Given the description of an element on the screen output the (x, y) to click on. 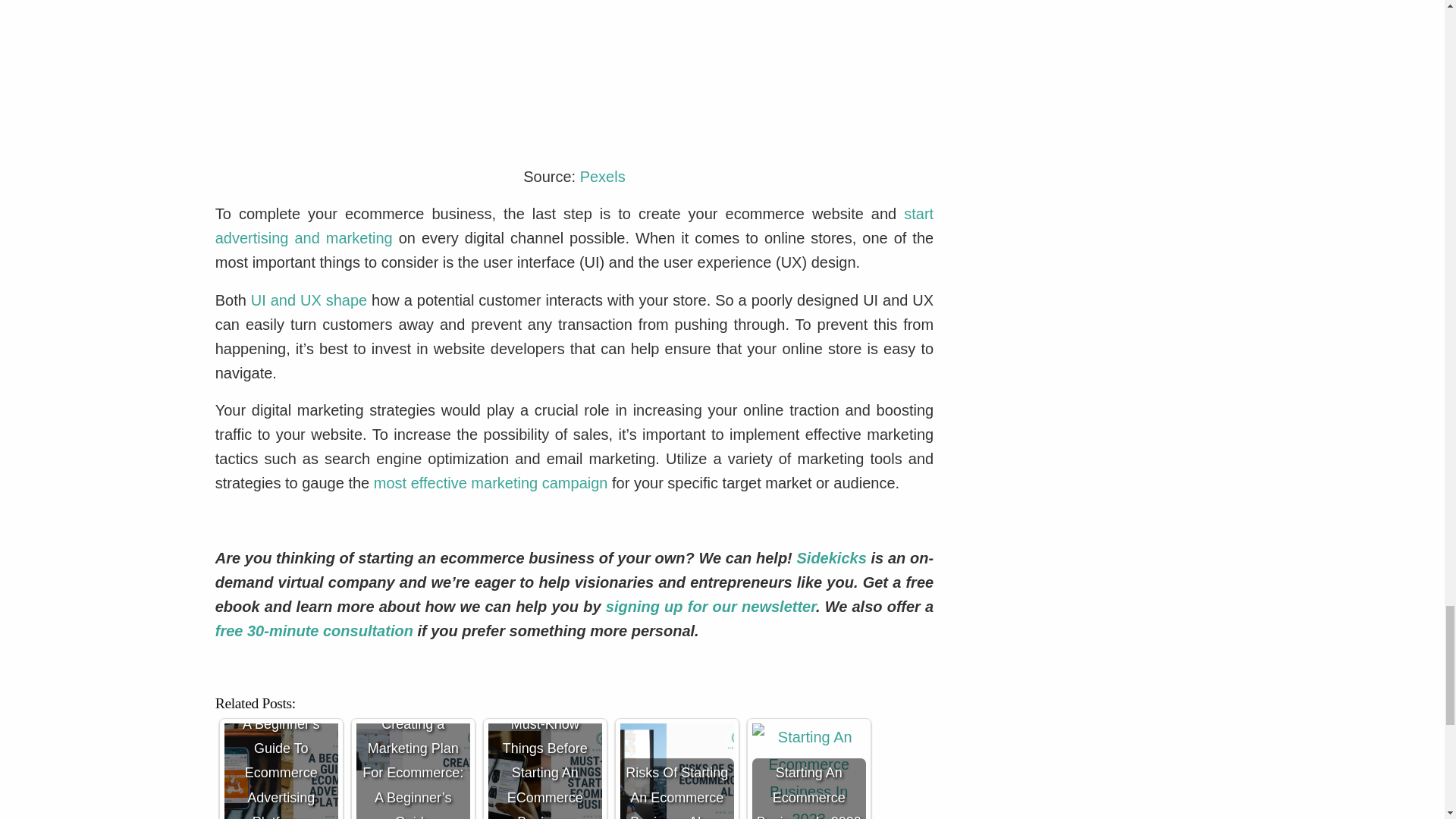
Must-Know Things Before Starting An ECommerce Business (544, 771)
Pexels (602, 176)
Sidekicks (831, 557)
UI and UX shape (308, 299)
signing up for our newsletter (708, 606)
start advertising and marketing (574, 225)
Starting An Ecommerce Business In 2023 (809, 771)
Must-Know Things Before Starting An ECommerce Business (544, 771)
Risks Of Starting An Ecommerce Business Alone (676, 771)
Starting An Ecommerce Business In 2023 (809, 771)
free 30-minute consultation (314, 630)
most effective marketing campaign (491, 483)
Risks Of Starting An Ecommerce Business Alone (676, 771)
